Given the description of an element on the screen output the (x, y) to click on. 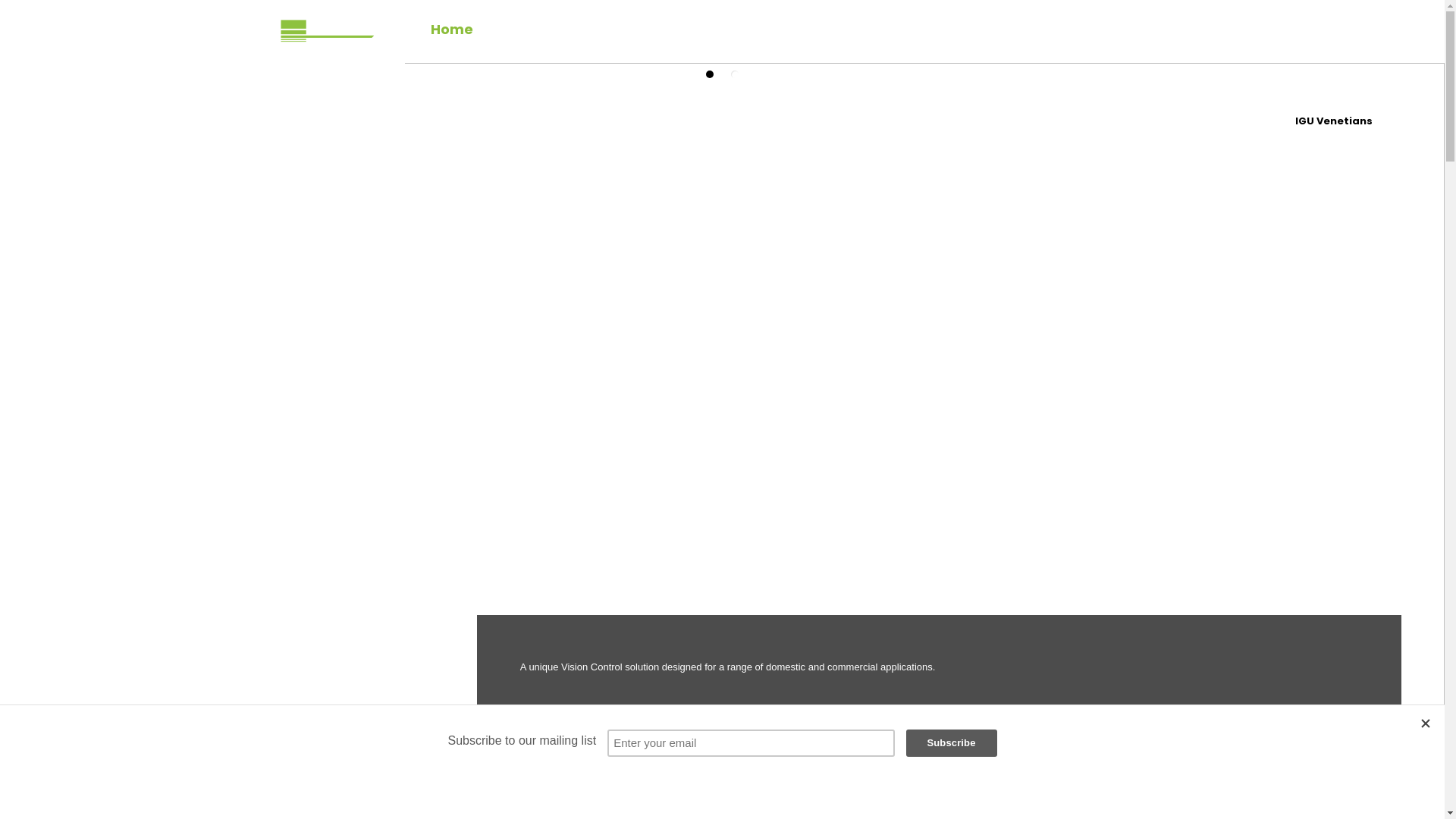
Home Element type: text (451, 29)
Where To Buy? Element type: text (556, 29)
Controllaview Element type: hover (343, 30)
Contact Us Element type: text (860, 29)
Gallery Element type: text (763, 29)
